Given the description of an element on the screen output the (x, y) to click on. 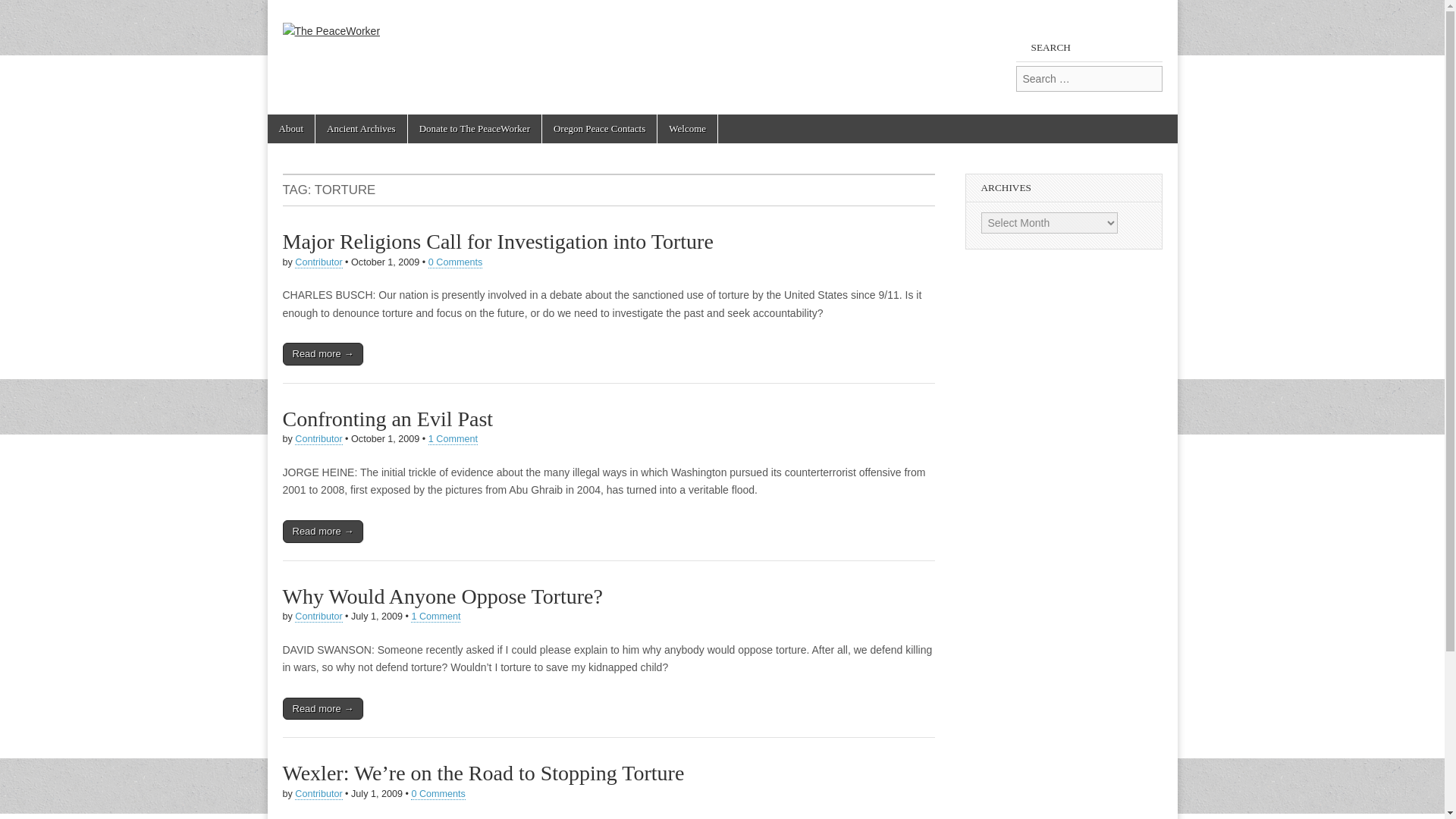
1 Comment (435, 616)
Oregon Peace Contacts (598, 128)
Donate to The PeaceWorker (474, 128)
0 Comments (437, 794)
The PeaceWorker (411, 81)
Posts by Contributor (318, 262)
Why Would Anyone Oppose Torture? (442, 596)
0 Comments (454, 262)
The PeaceWorker (330, 20)
About (290, 128)
Search (23, 12)
The PeaceWorker (411, 81)
Ancient Archives (361, 128)
